Given the description of an element on the screen output the (x, y) to click on. 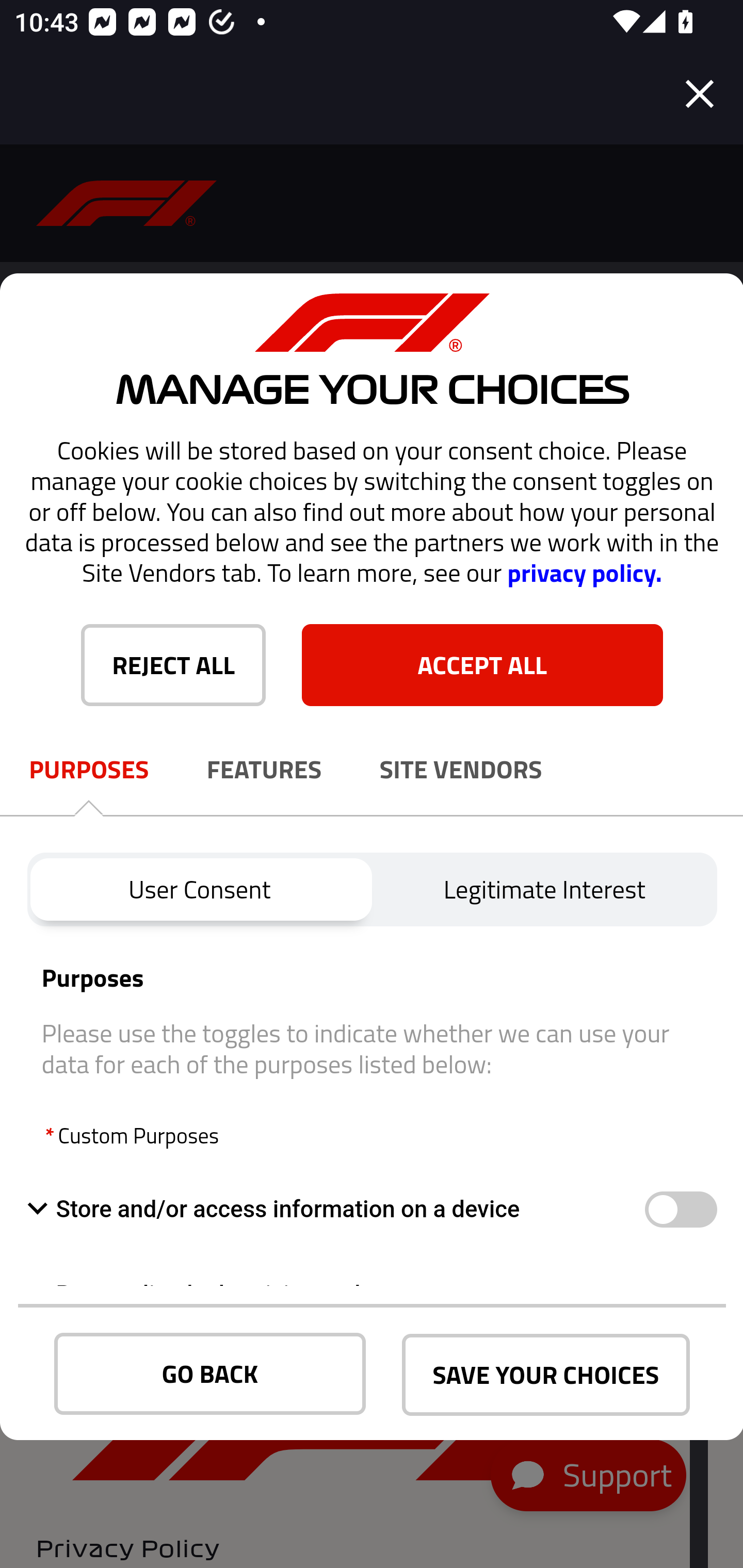
Close (699, 93)
Formula1 (127, 203)
privacy policy. (583, 572)
REJECT ALL (173, 664)
ACCEPT ALL (481, 664)
PURPOSES (89, 769)
FEATURES (264, 769)
SITE VENDORS (461, 769)
User Consent (199, 889)
Legitimate Interest (545, 889)
Store and/or access information on a device (335, 1209)
Store and/or access information on a device (680, 1210)
GO BACK (210, 1373)
SAVE YOUR CHOICES (546, 1374)
